Given the description of an element on the screen output the (x, y) to click on. 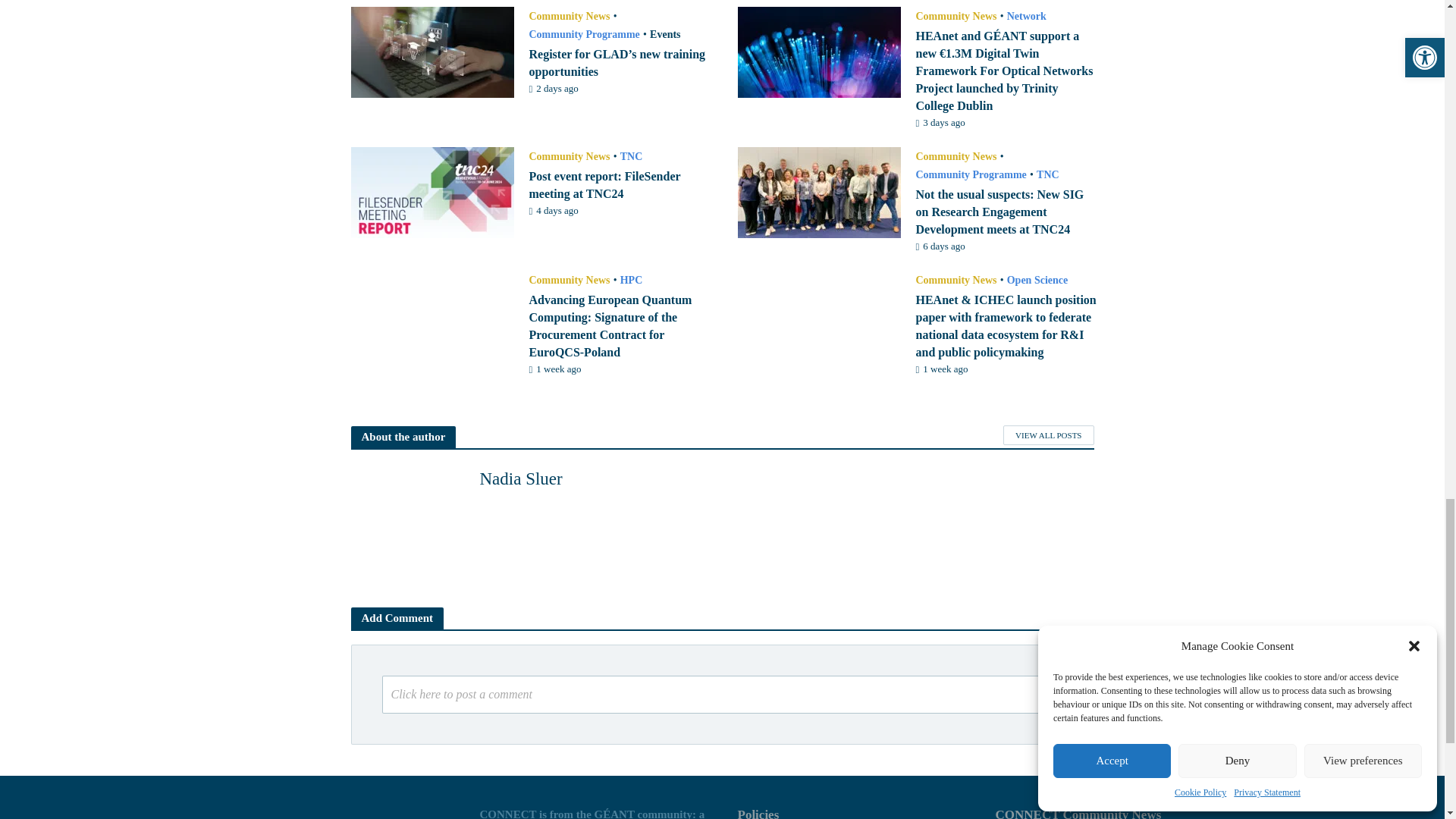
Post event report: FileSender meeting at TNC24 (431, 191)
